Given the description of an element on the screen output the (x, y) to click on. 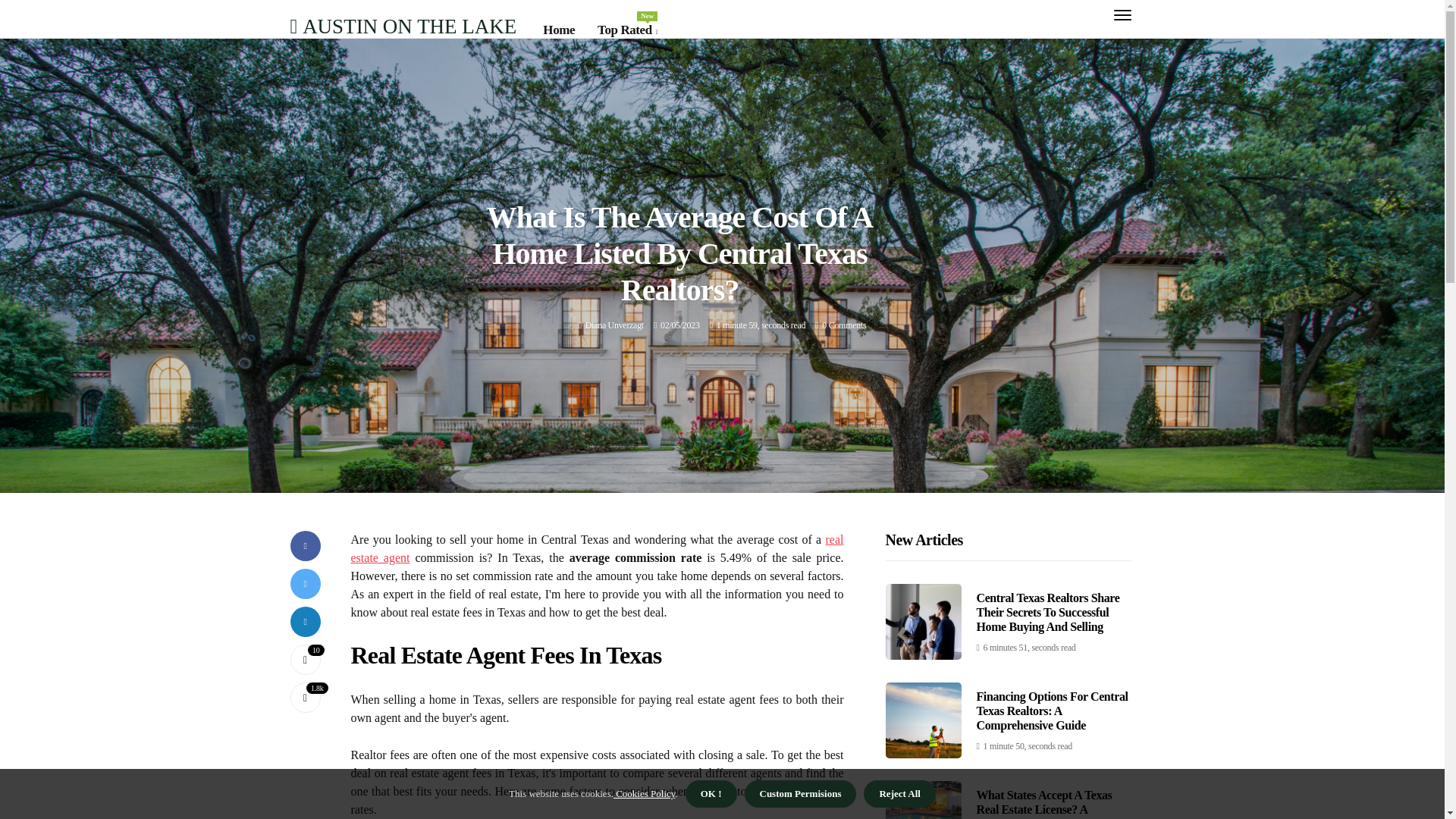
0 Comments (844, 325)
Posts by Diana Unverzagt (627, 30)
10 (614, 325)
real estate agent (304, 659)
AUSTIN ON THE LAKE (596, 548)
Diana Unverzagt (402, 26)
Like (614, 325)
